Given the description of an element on the screen output the (x, y) to click on. 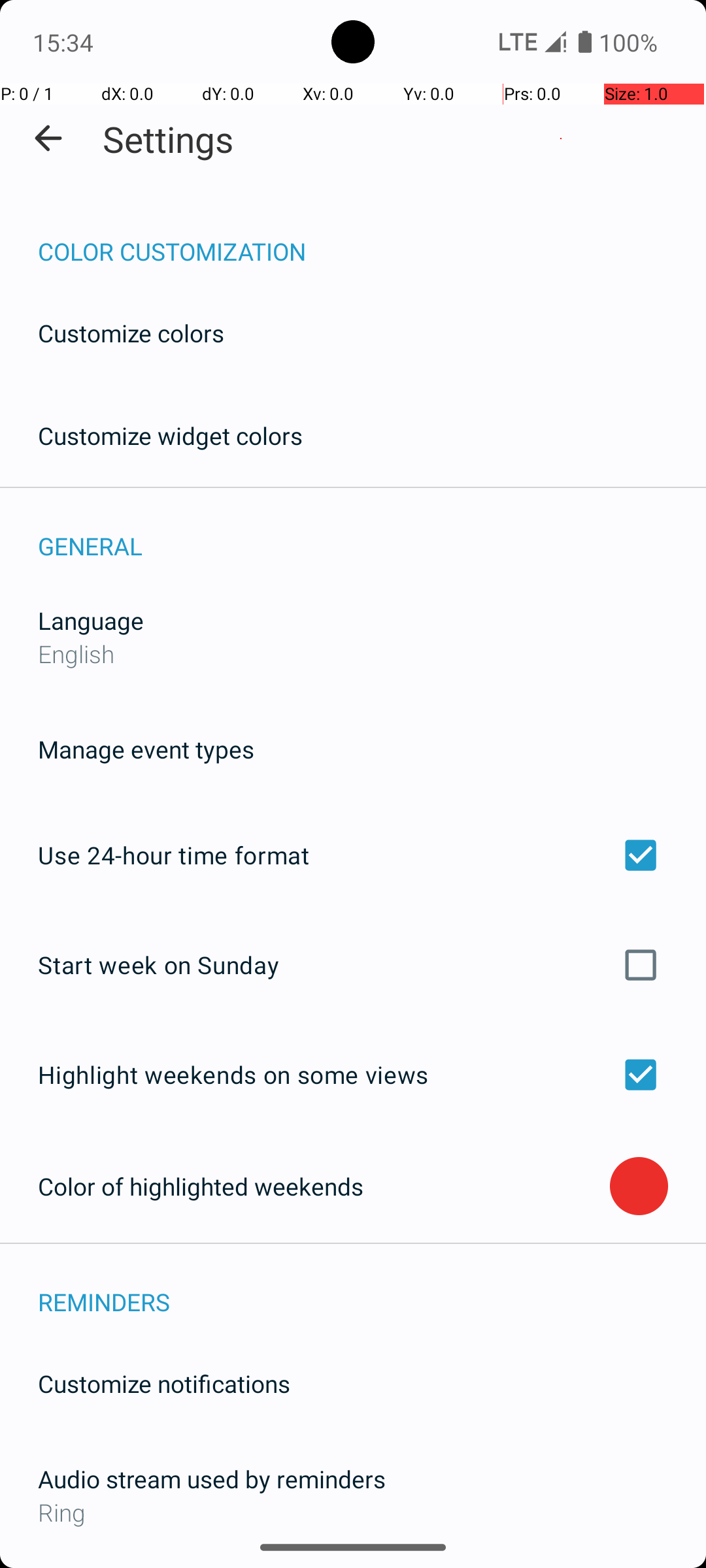
Color of highlighted weekends Element type: android.widget.TextView (323, 1186)
Ring Element type: android.widget.TextView (352, 1511)
